Given the description of an element on the screen output the (x, y) to click on. 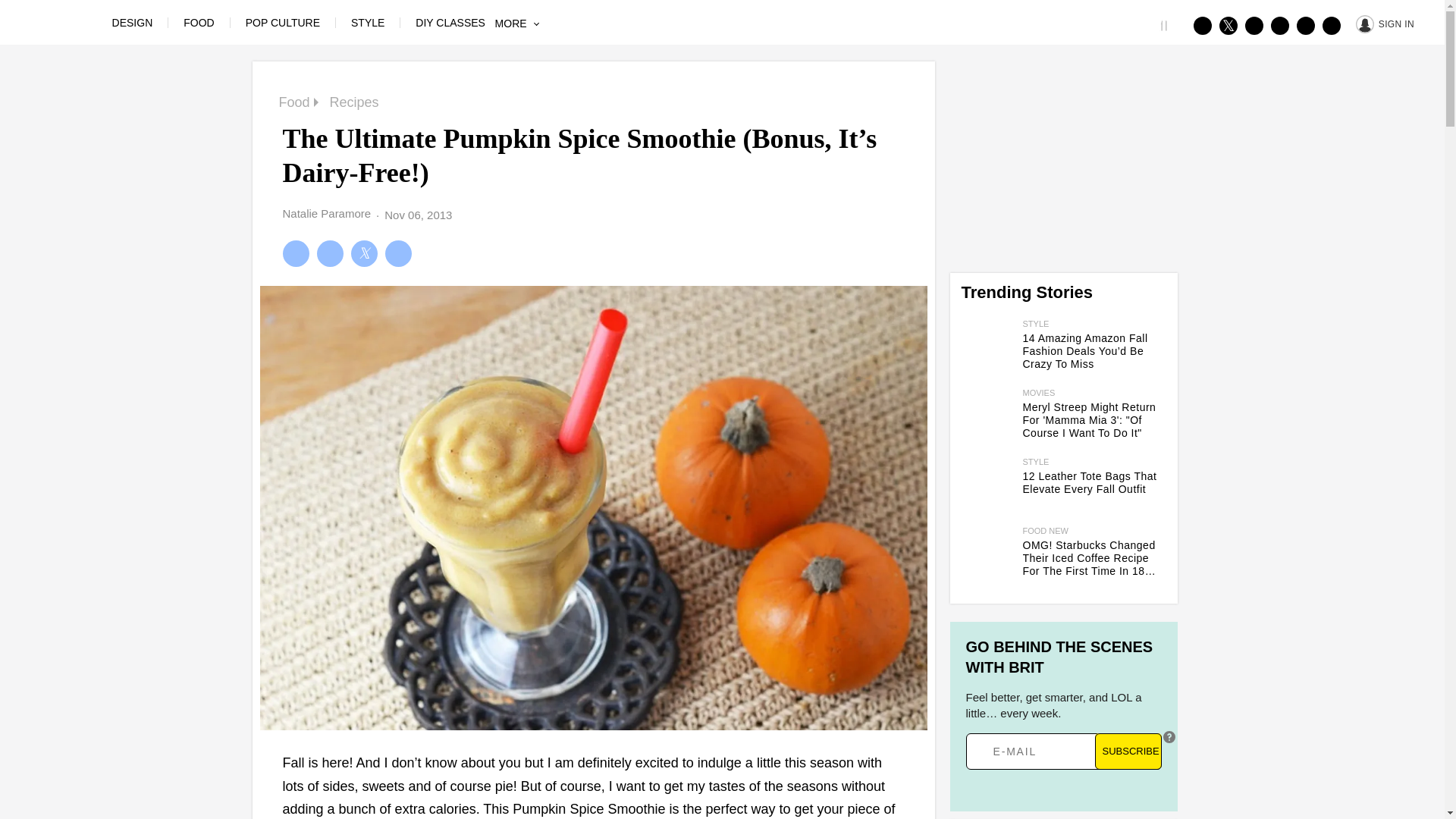
POP CULTURE (283, 22)
SIGN IN (1384, 23)
FOOD (198, 22)
DIY CLASSES (449, 22)
DESIGN (132, 22)
STYLE (367, 22)
